Given the description of an element on the screen output the (x, y) to click on. 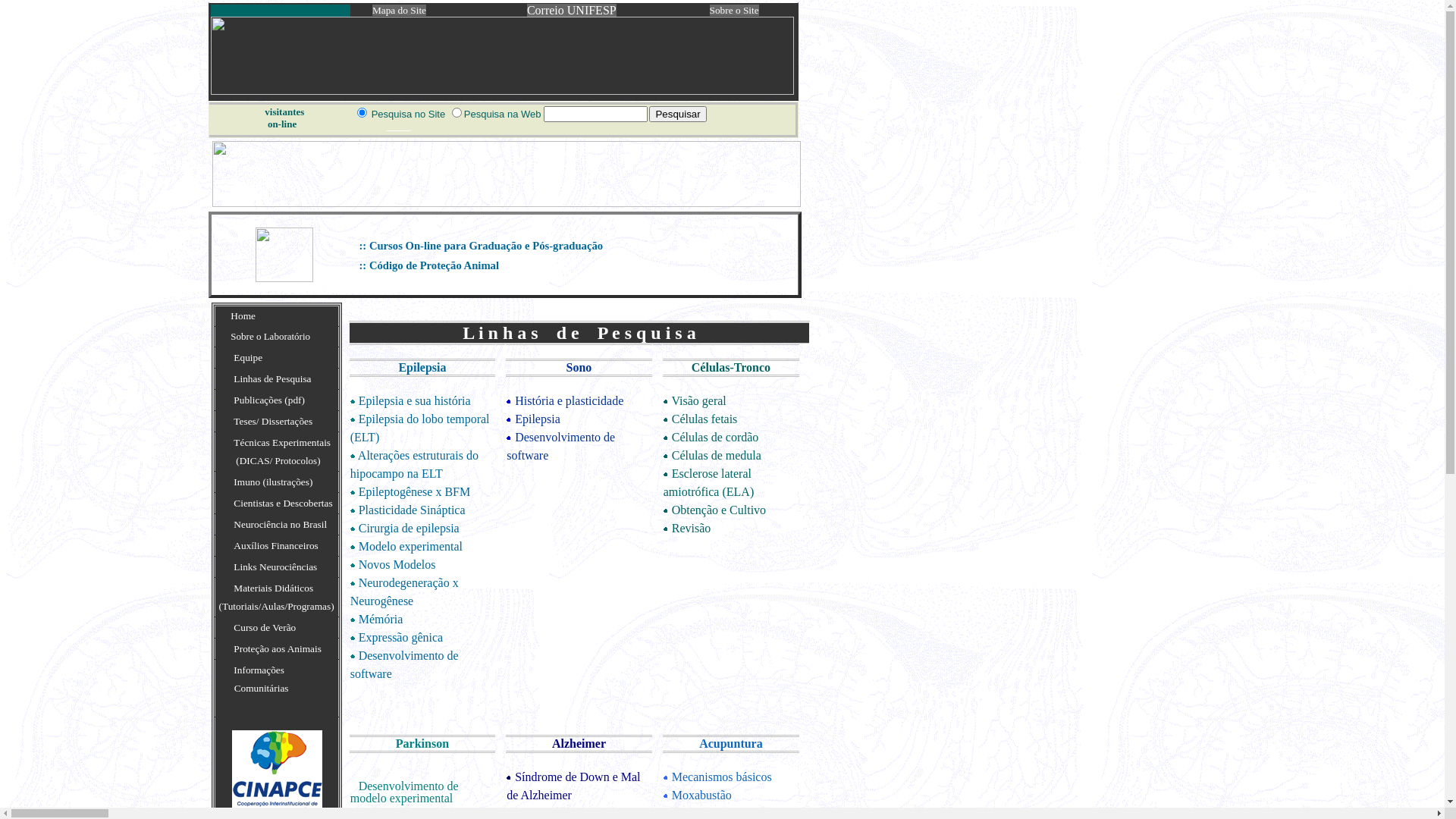
Linhas de Pesquisa Element type: text (271, 378)
Modelo experimental Element type: text (410, 545)
Desenvolvimento de software Element type: text (560, 445)
Epilepsia Element type: text (421, 366)
Mapa do Site Element type: text (399, 9)
Cirurgia de epilepsia Element type: text (408, 527)
Correio UNIFESP Element type: text (571, 9)
Sobre o Site Element type: text (734, 9)
Parkinson Element type: text (421, 743)
Cientistas e Descobertas Element type: text (282, 502)
Equipe Element type: text (247, 357)
Epilepsia Element type: text (537, 418)
Alzheimer Element type: text (578, 743)
Acupuntura Element type: text (730, 743)
Pesquisar Element type: text (677, 114)
Home Element type: text (242, 315)
Epilepsia do lobo temporal Element type: text (423, 418)
Sono Element type: text (579, 366)
FreeFind Element type: text (397, 127)
